Given the description of an element on the screen output the (x, y) to click on. 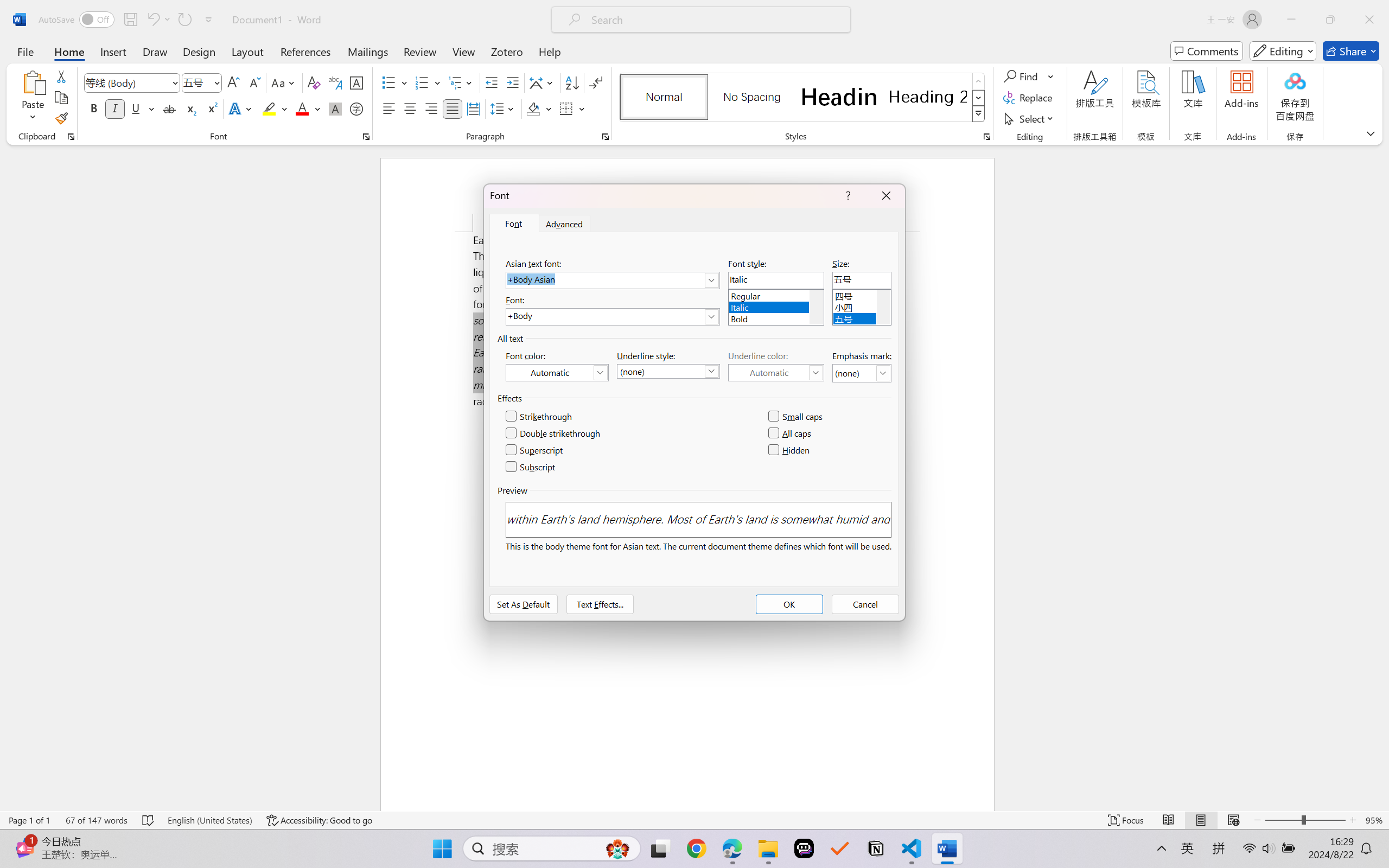
Copy (60, 97)
Superscript (210, 108)
Row Down (978, 97)
Styles... (986, 136)
Clear Formatting (313, 82)
Underline style: (667, 370)
Page Number Page 1 of 1 (29, 819)
Poe (804, 848)
Bold (94, 108)
Justify (452, 108)
